Given the description of an element on the screen output the (x, y) to click on. 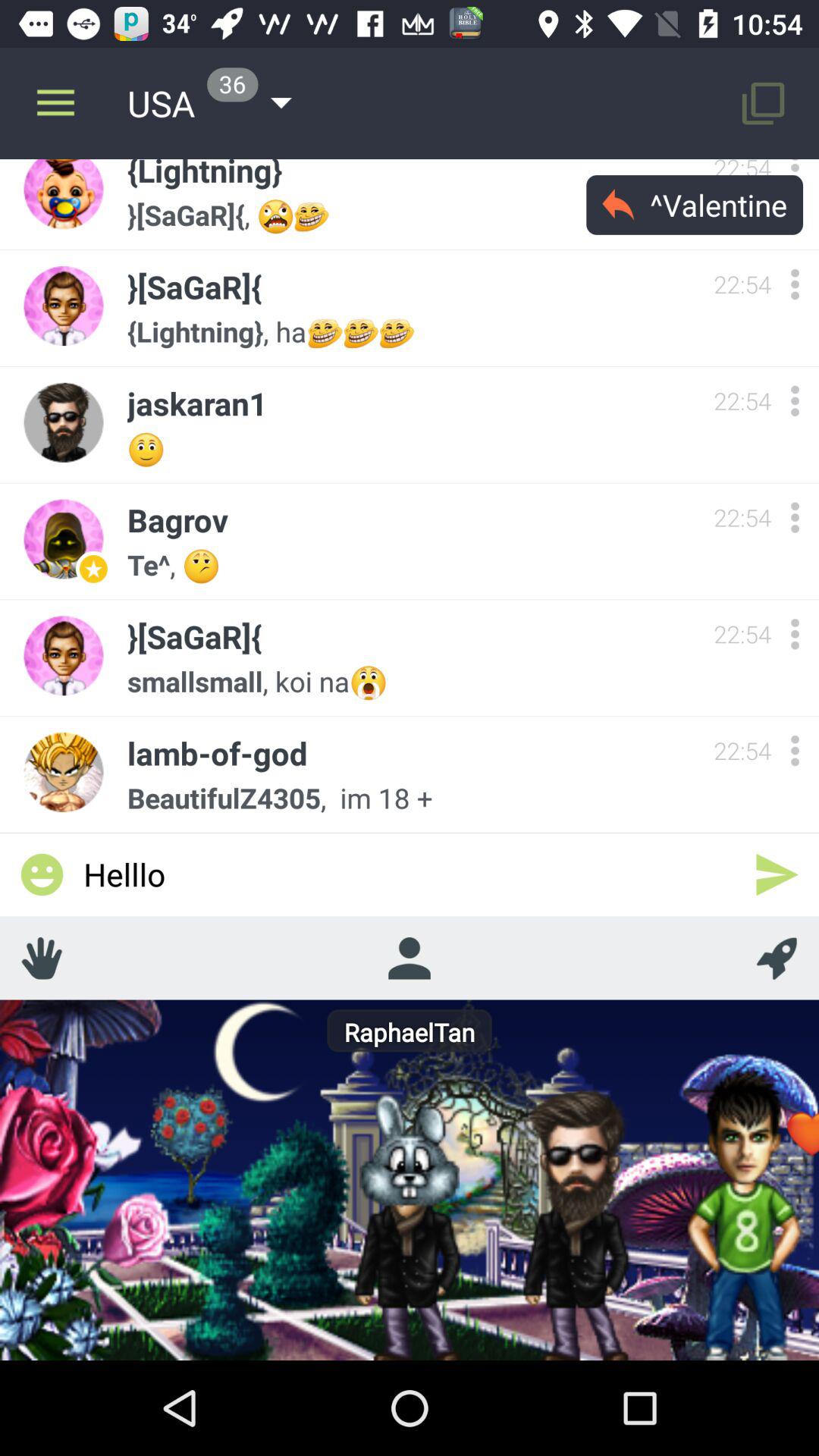
switch autoplay option (795, 284)
